Given the description of an element on the screen output the (x, y) to click on. 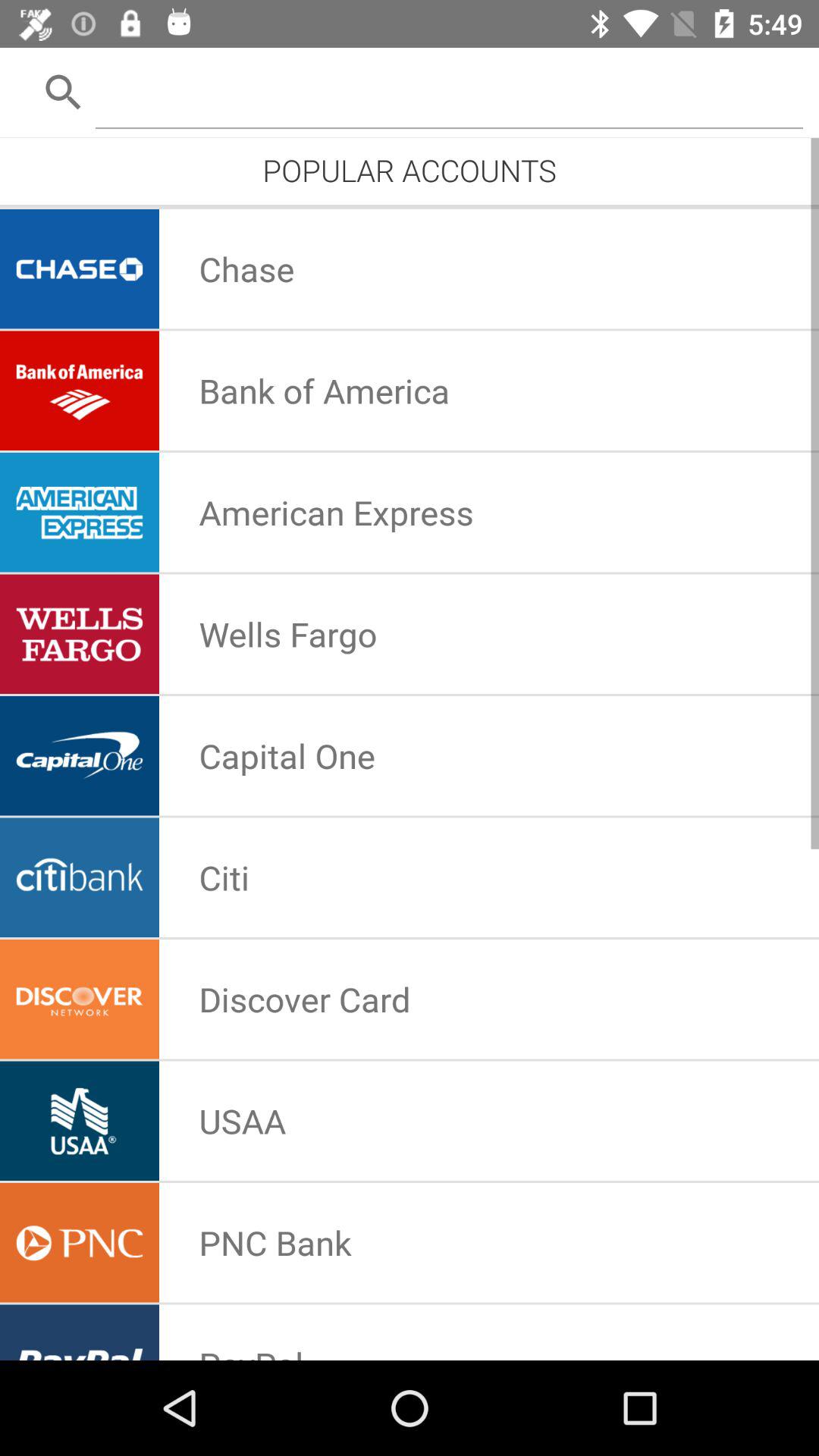
click item below the discover card app (242, 1120)
